Given the description of an element on the screen output the (x, y) to click on. 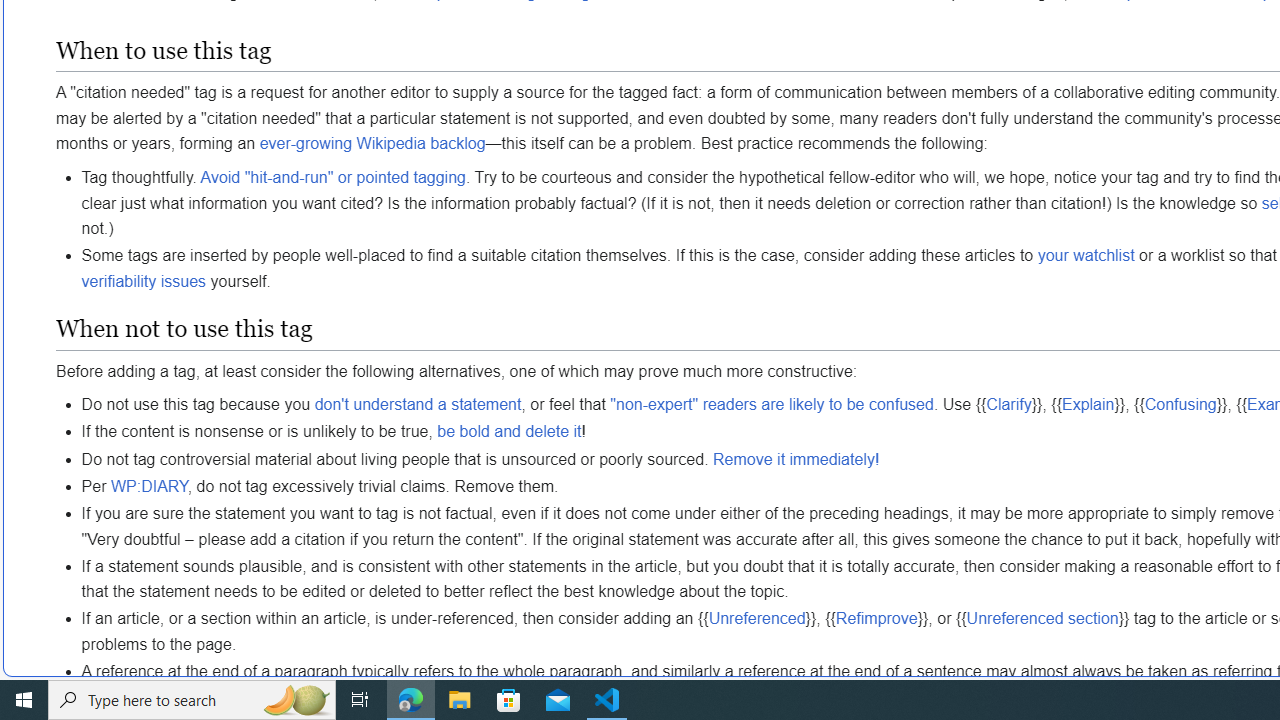
ever-growing Wikipedia backlog (372, 143)
